Given the description of an element on the screen output the (x, y) to click on. 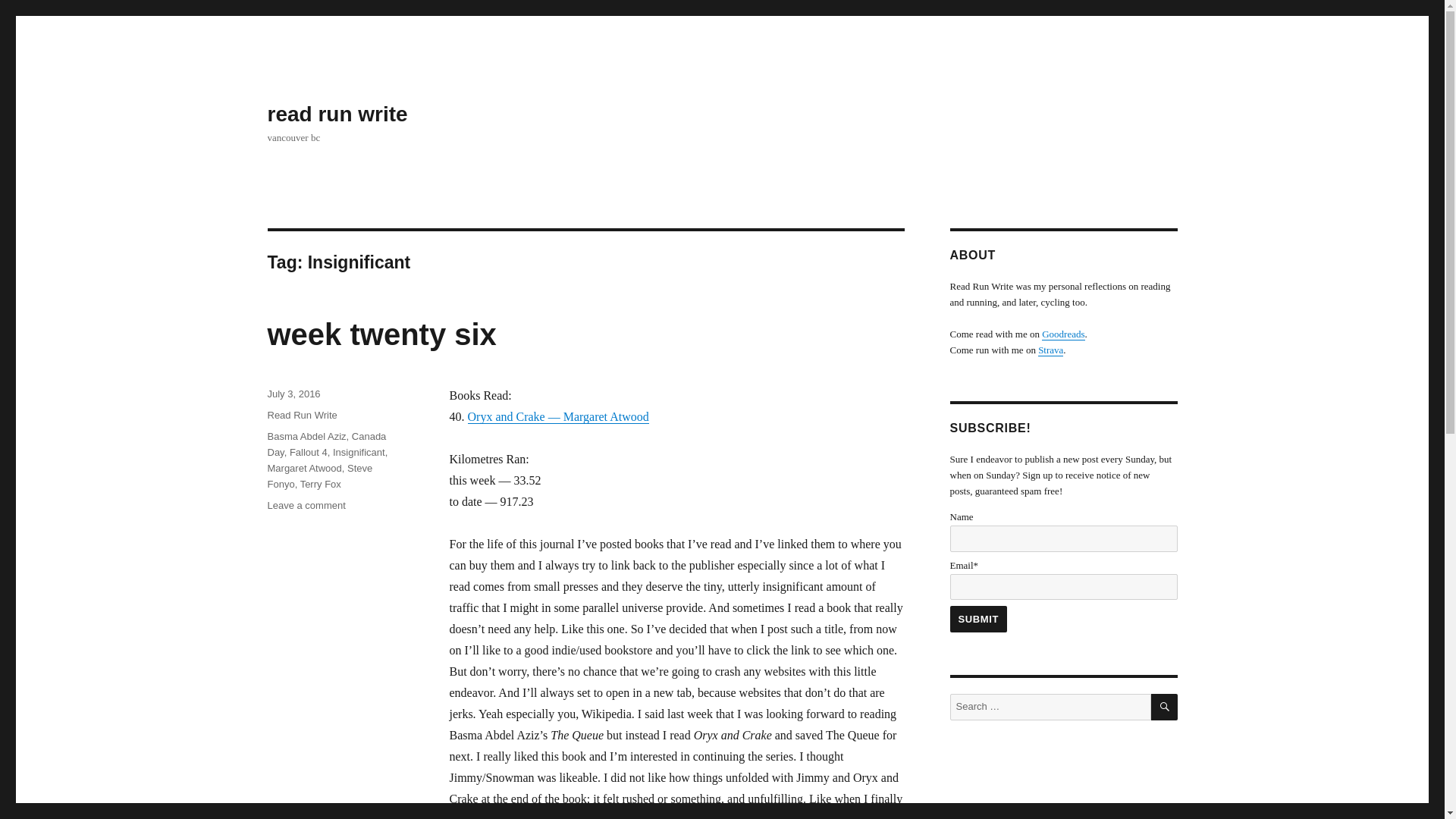
Submit (978, 619)
Canada Day (325, 443)
July 3, 2016 (293, 393)
week twenty six (381, 334)
read run write (336, 114)
Margaret Atwood (303, 468)
Terry Fox (319, 483)
Submit (978, 619)
SEARCH (1164, 706)
